Given the description of an element on the screen output the (x, y) to click on. 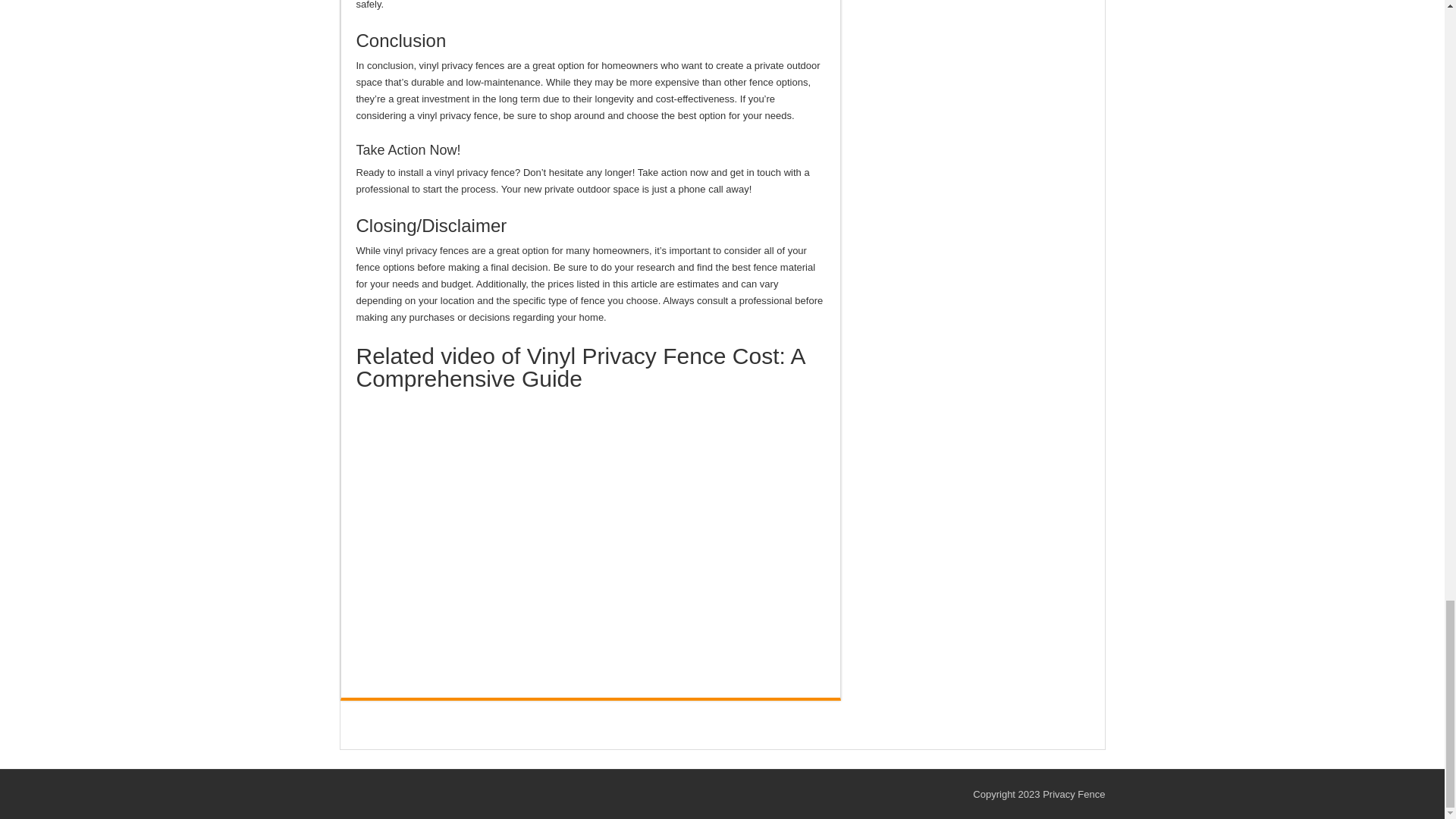
Privacy Fence (1073, 794)
How to Install a Vinyl Fence DIY Privacy Fence Build (590, 529)
